Given the description of an element on the screen output the (x, y) to click on. 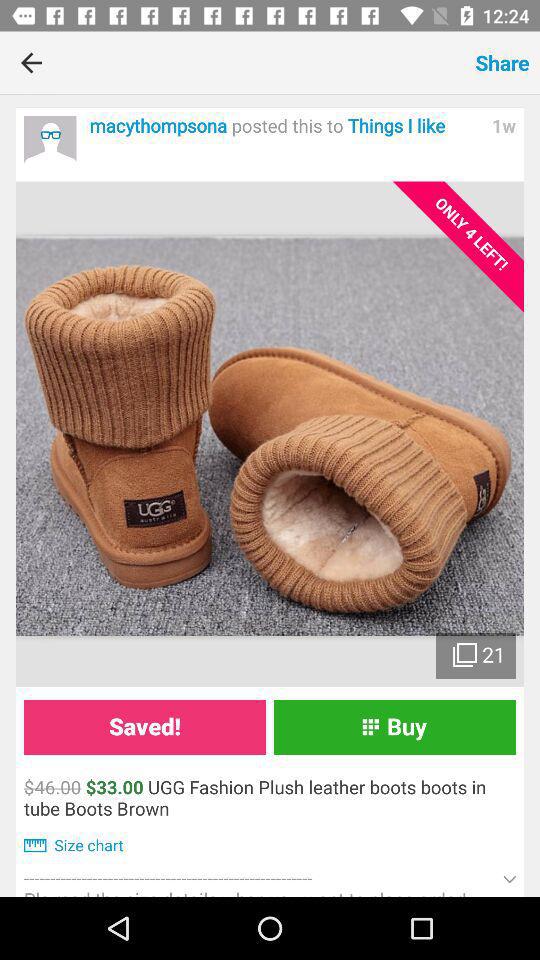
launch item above saved! icon (269, 433)
